Given the description of an element on the screen output the (x, y) to click on. 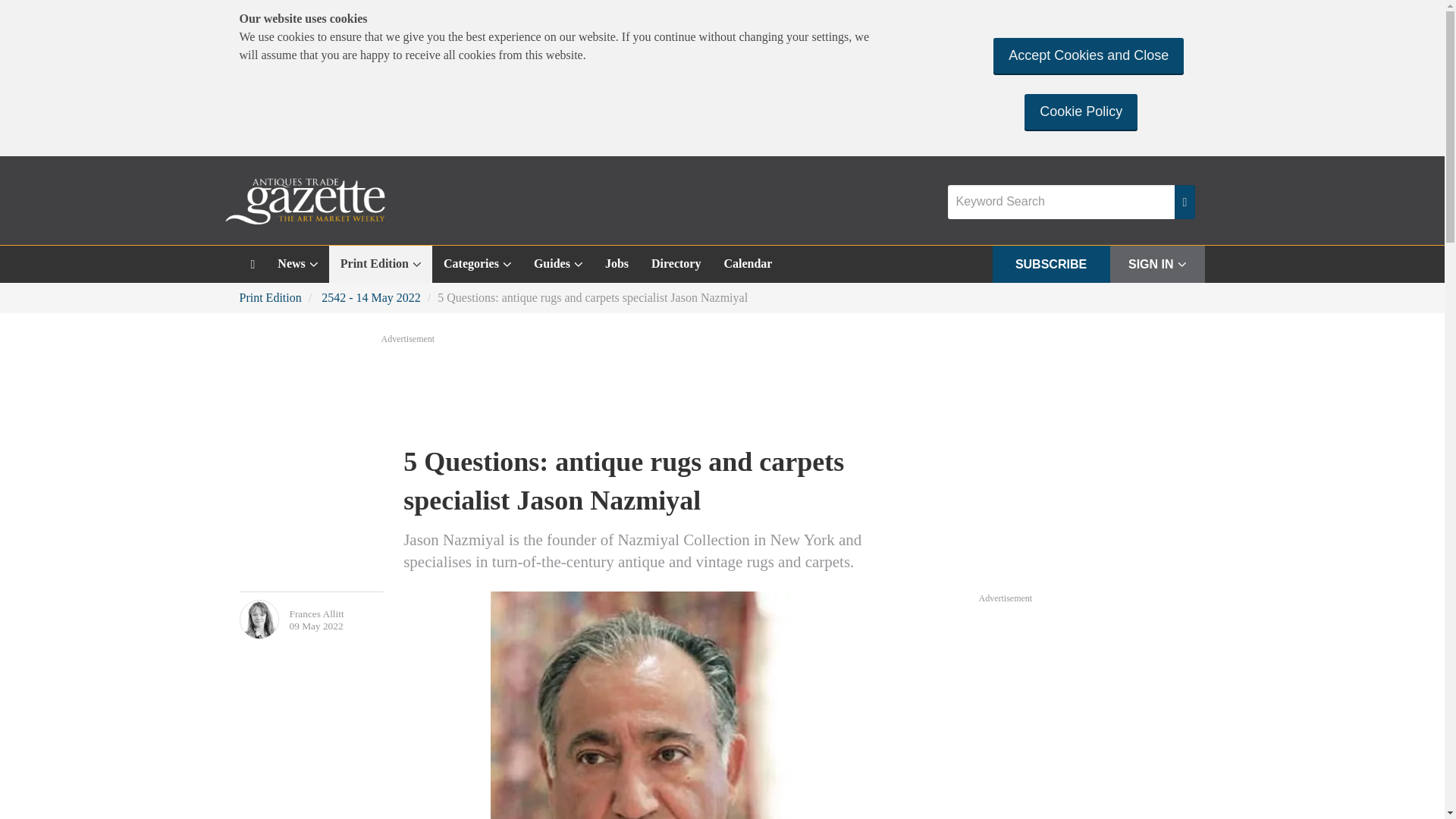
3rd party ad content (1091, 712)
Cookie Policy (1081, 111)
News (297, 263)
Keyword Search (1060, 202)
3rd party ad content (721, 387)
